Given the description of an element on the screen output the (x, y) to click on. 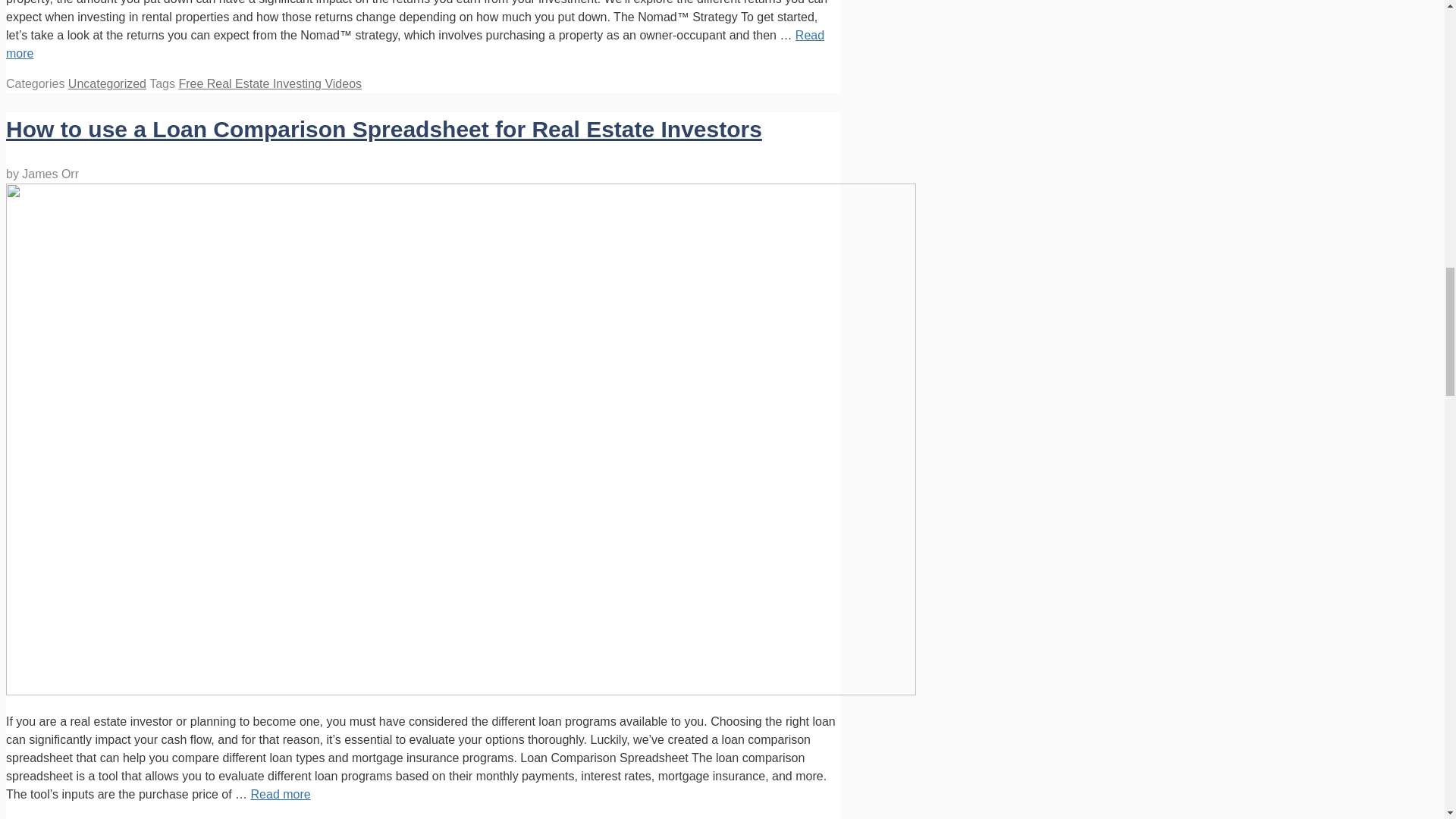
Uncategorized (107, 83)
Read more (414, 43)
The Return on Investment on Extra Down Payments (414, 43)
Read more (280, 793)
Free Real Estate Investing Videos (269, 83)
